Given the description of an element on the screen output the (x, y) to click on. 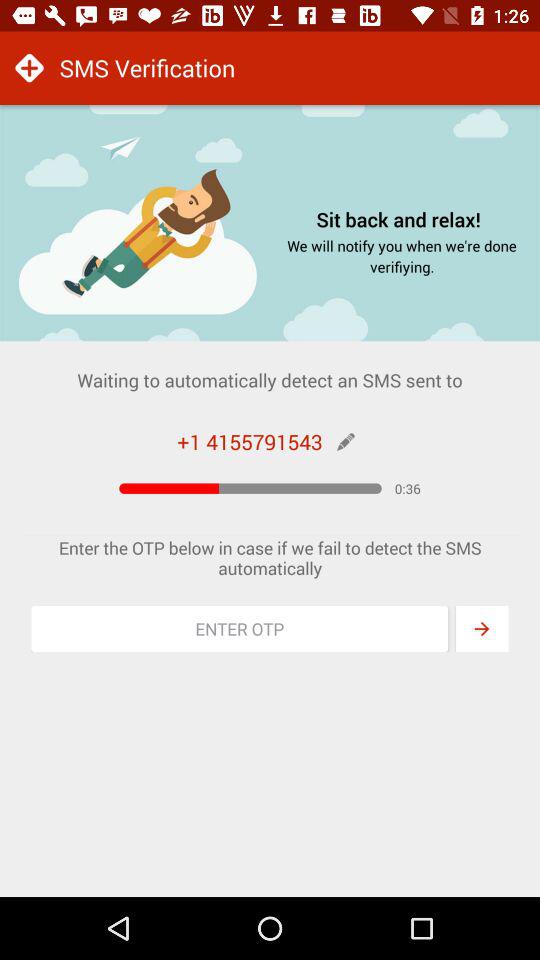
click on enter otp (239, 628)
